Given the description of an element on the screen output the (x, y) to click on. 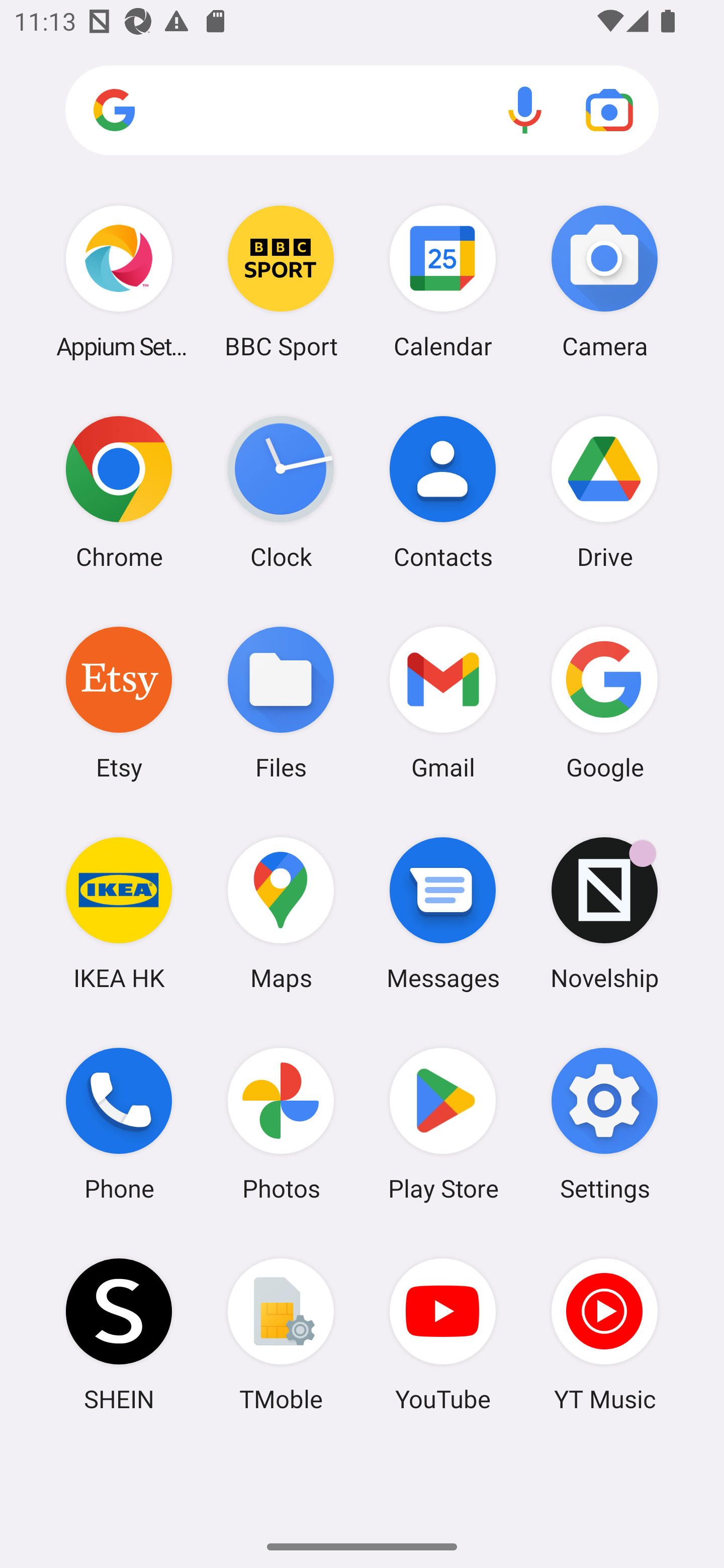
Search apps, web and more (361, 110)
Voice search (524, 109)
Google Lens (608, 109)
Appium Settings (118, 281)
BBC Sport (280, 281)
Calendar (443, 281)
Camera (604, 281)
Chrome (118, 492)
Clock (280, 492)
Contacts (443, 492)
Drive (604, 492)
Etsy (118, 702)
Files (280, 702)
Gmail (443, 702)
Google (604, 702)
IKEA HK (118, 913)
Maps (280, 913)
Messages (443, 913)
Novelship Novelship has 3 notifications (604, 913)
Phone (118, 1124)
Photos (280, 1124)
Play Store (443, 1124)
Settings (604, 1124)
SHEIN (118, 1334)
TMoble (280, 1334)
YouTube (443, 1334)
YT Music (604, 1334)
